Given the description of an element on the screen output the (x, y) to click on. 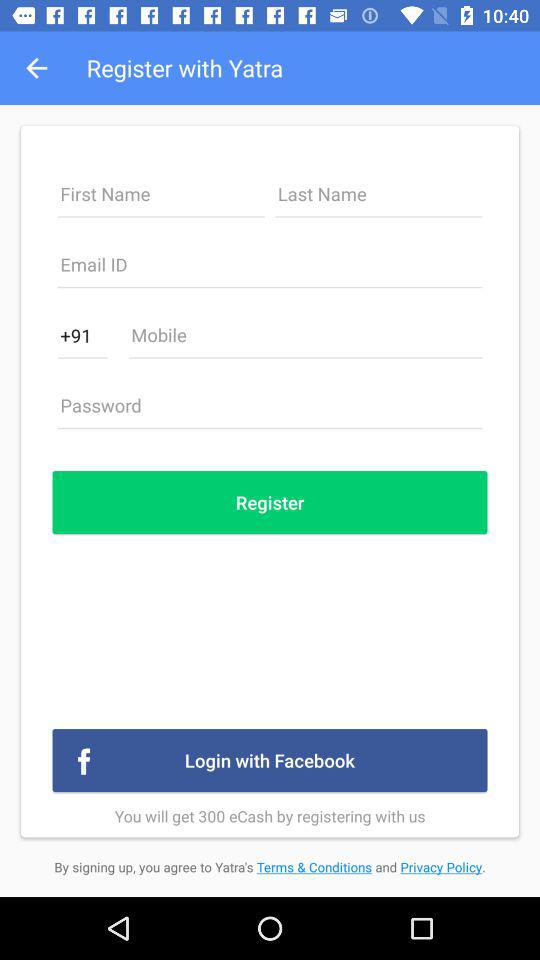
enter last name (378, 199)
